Given the description of an element on the screen output the (x, y) to click on. 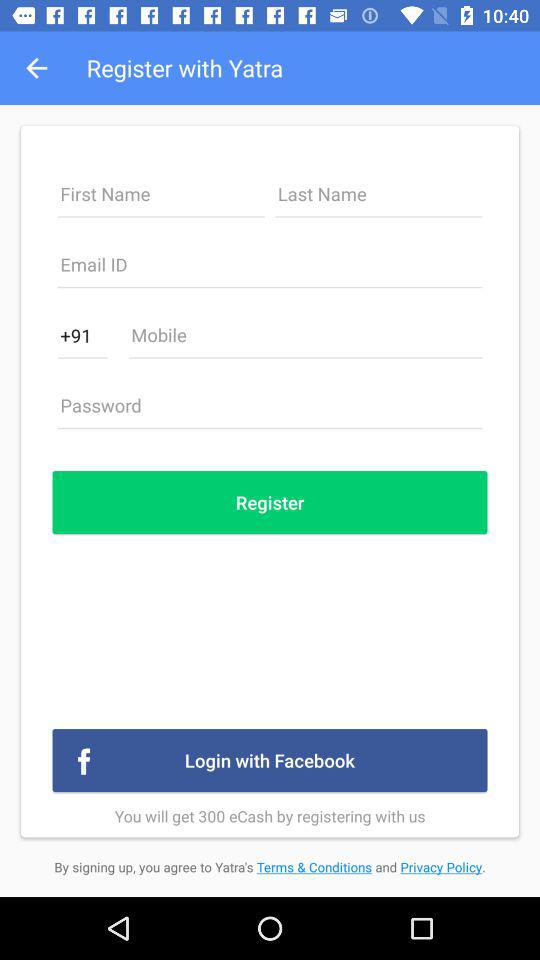
enter last name (378, 199)
